Given the description of an element on the screen output the (x, y) to click on. 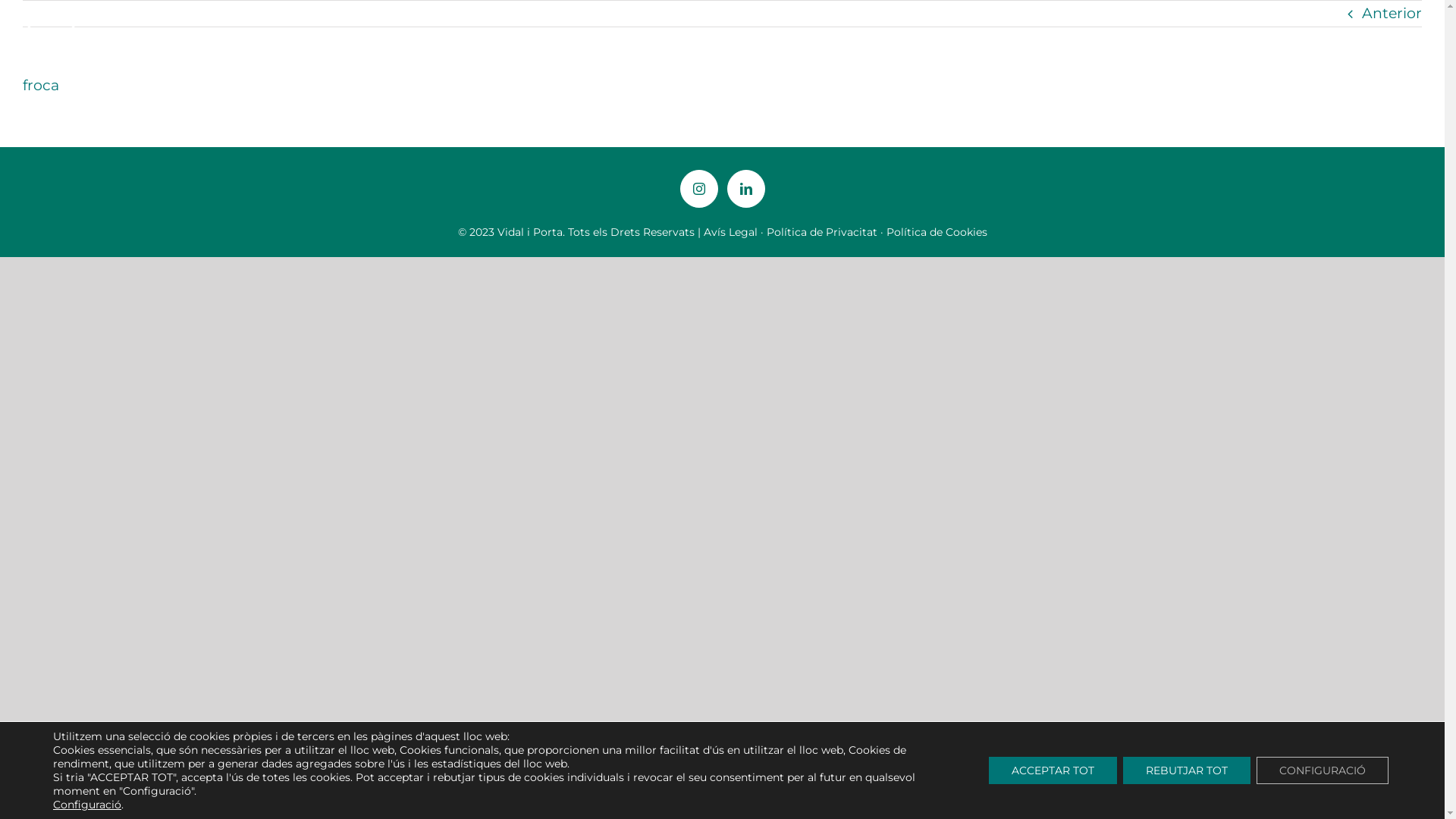
froca Element type: text (40, 85)
ACCEPTAR TOT Element type: text (1052, 770)
PROJECTES Element type: text (1181, 45)
ES Element type: text (1353, 45)
Instagram Element type: hover (698, 188)
SERVEIS Element type: text (1110, 45)
REBUTJAR TOT Element type: text (1186, 770)
LinkedIn Element type: hover (745, 188)
ENG Element type: text (1391, 45)
CONTACTE Element type: text (1260, 45)
CAT Element type: text (1318, 45)
Anterior Element type: text (1391, 13)
EMPRESA Element type: text (1043, 45)
